Given the description of an element on the screen output the (x, y) to click on. 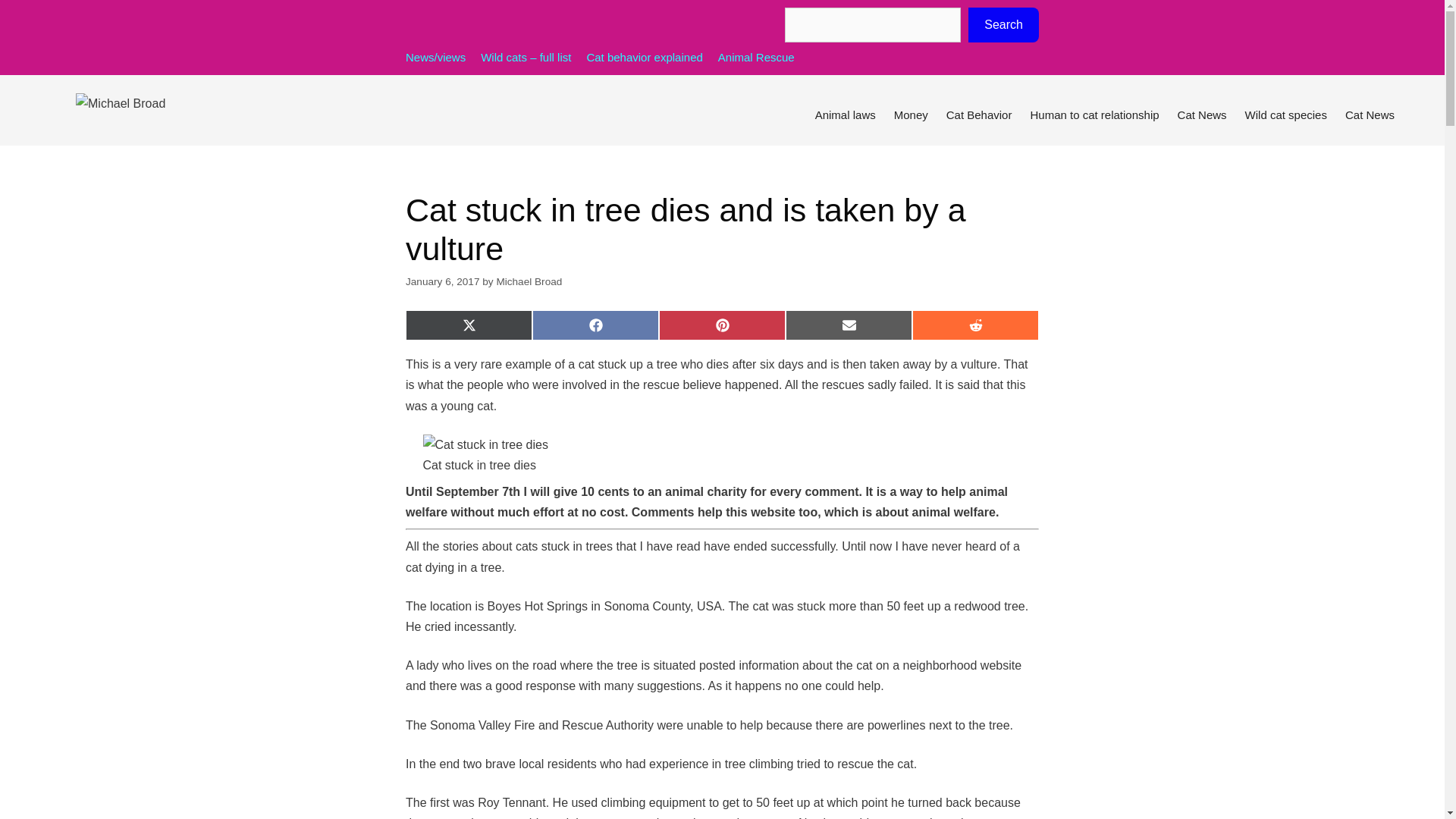
View all posts by Michael Broad (529, 281)
Cat Behavior (979, 115)
Cat News (1202, 115)
Cat behavior explained (643, 56)
Human to cat relationship (1093, 115)
Share on Reddit (975, 325)
Share on Email (849, 325)
Share on Pinterest (722, 325)
Cat News (1369, 115)
Animal Rescue (755, 56)
